Given the description of an element on the screen output the (x, y) to click on. 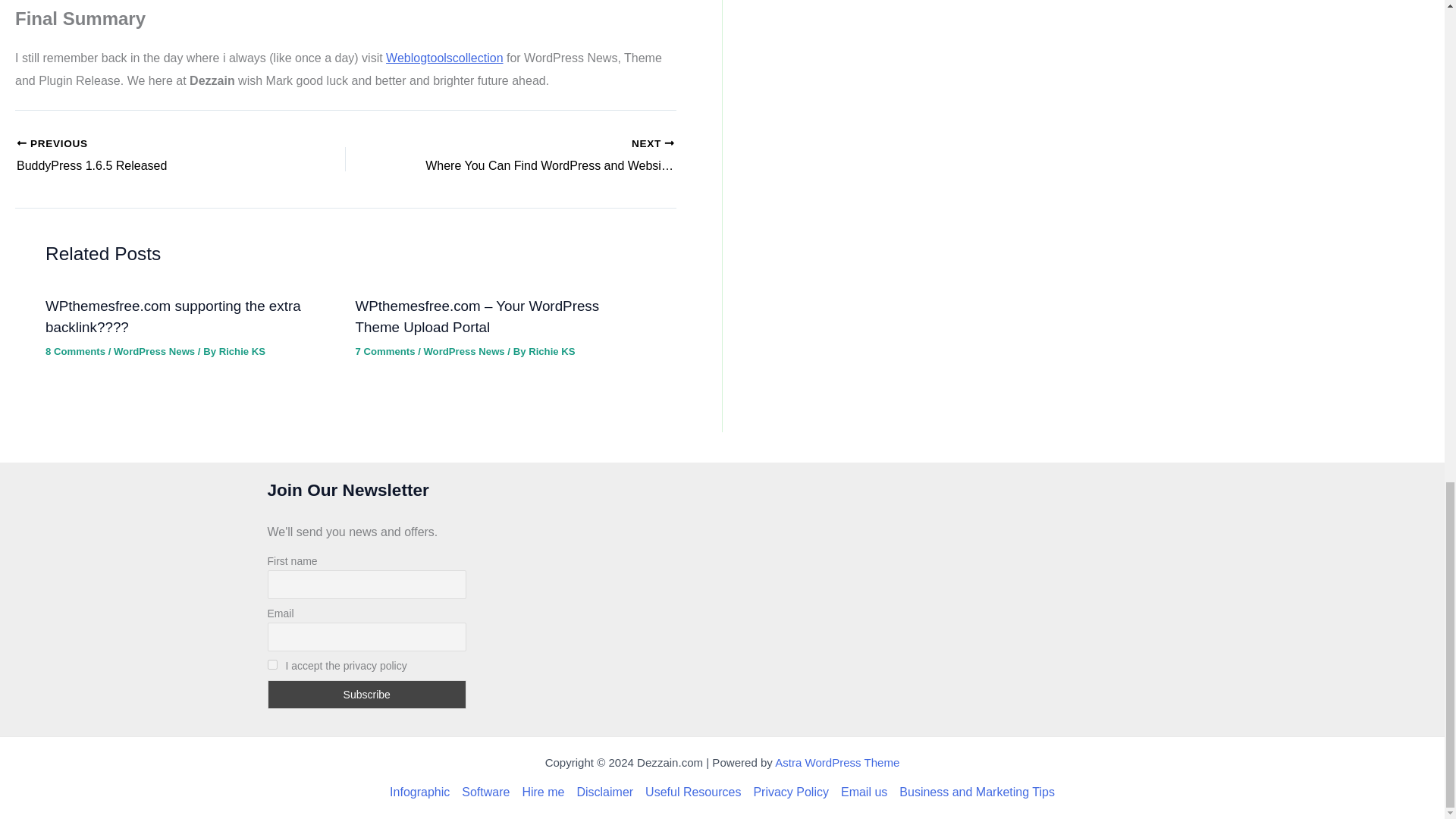
BuddyPress 1.6.5 Released (148, 156)
WordPress News (154, 351)
View all posts by Richie KS (148, 156)
on (241, 351)
8 Comments (271, 664)
View all posts by Richie KS (74, 351)
Weblogtoolscollection (542, 156)
WPthemesfree.com supporting the extra backlink???? (551, 351)
